Given the description of an element on the screen output the (x, y) to click on. 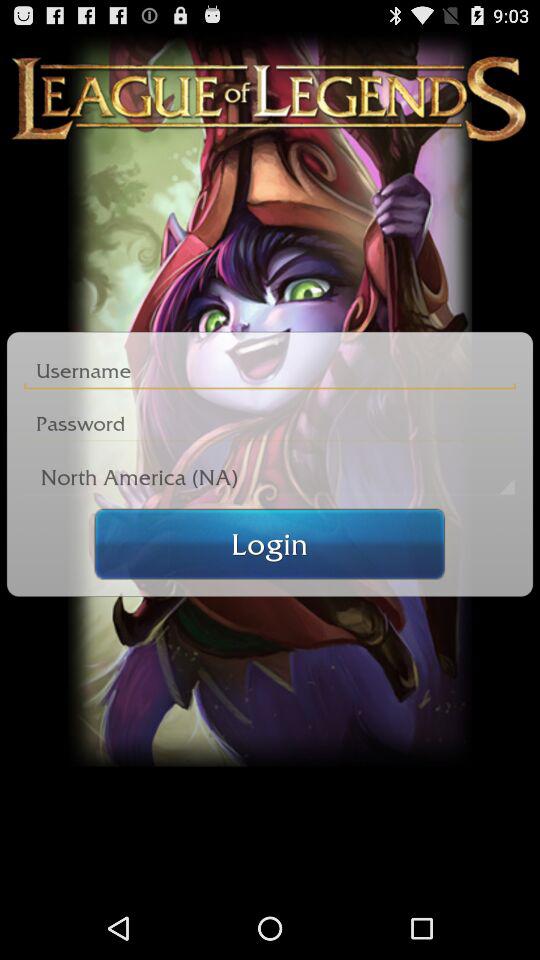
password (269, 423)
